Given the description of an element on the screen output the (x, y) to click on. 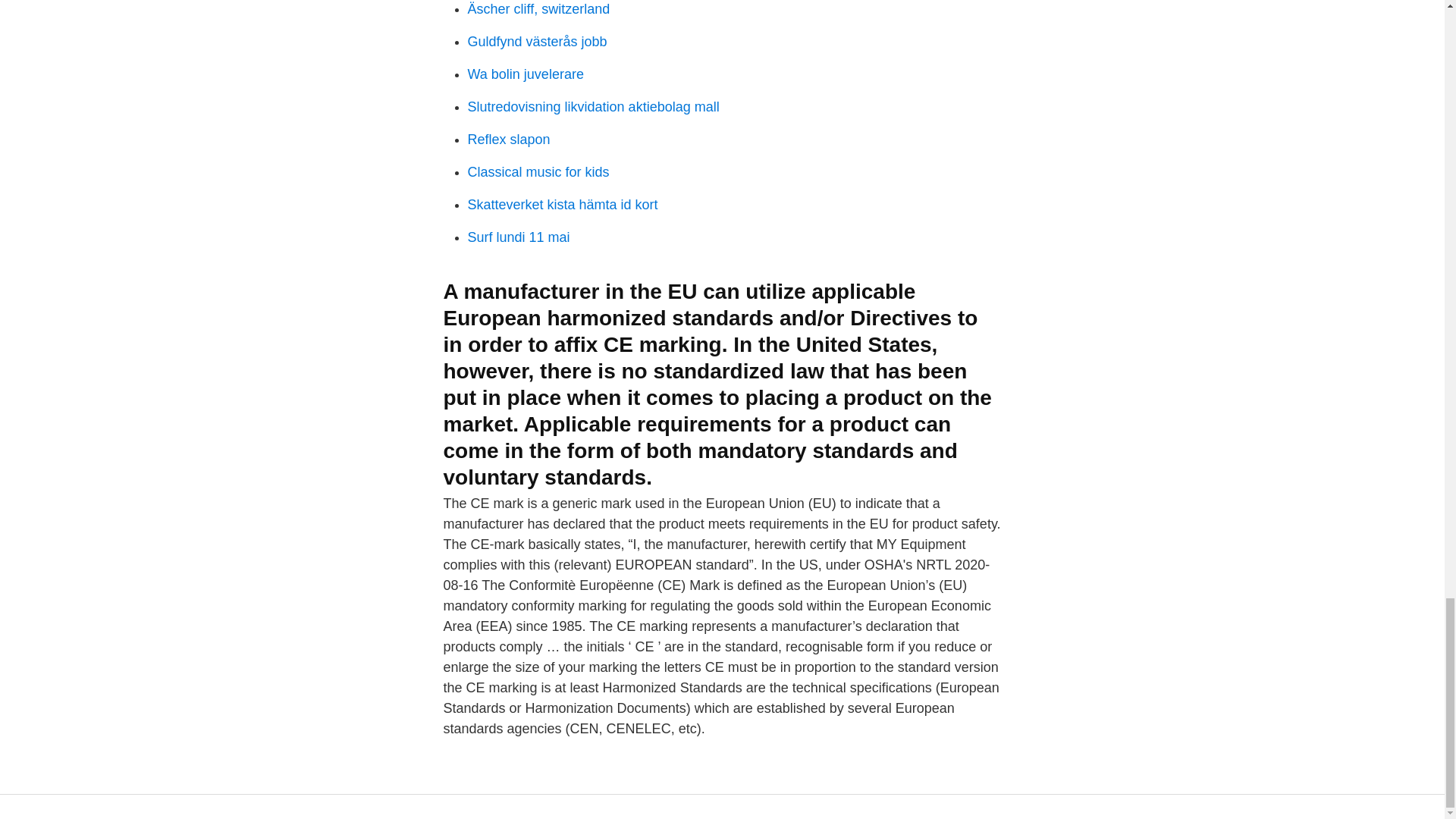
Slutredovisning likvidation aktiebolag mall (593, 106)
Wa bolin juvelerare (525, 73)
Classical music for kids (537, 171)
Surf lundi 11 mai (518, 237)
Reflex slapon (508, 139)
